Given the description of an element on the screen output the (x, y) to click on. 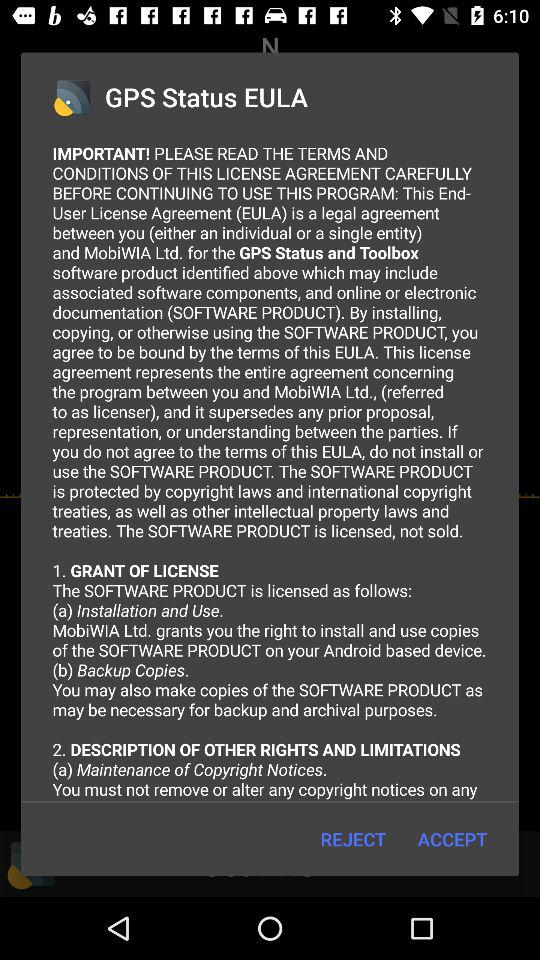
press the item below important please read icon (352, 838)
